Given the description of an element on the screen output the (x, y) to click on. 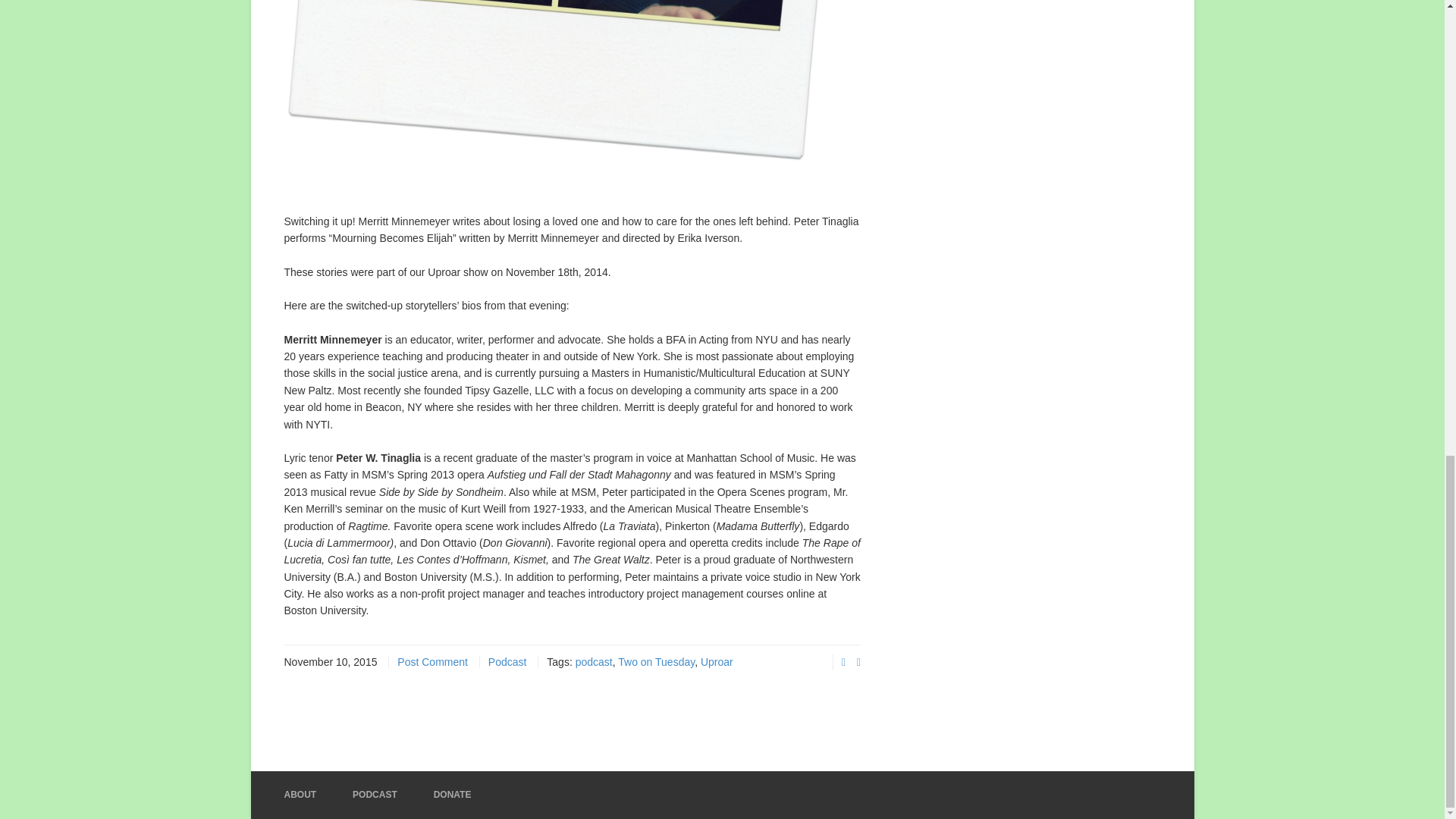
Uproar (716, 662)
Post Comment (432, 662)
podcast (593, 662)
Two on Tuesday (655, 662)
Podcast (507, 662)
